Given the description of an element on the screen output the (x, y) to click on. 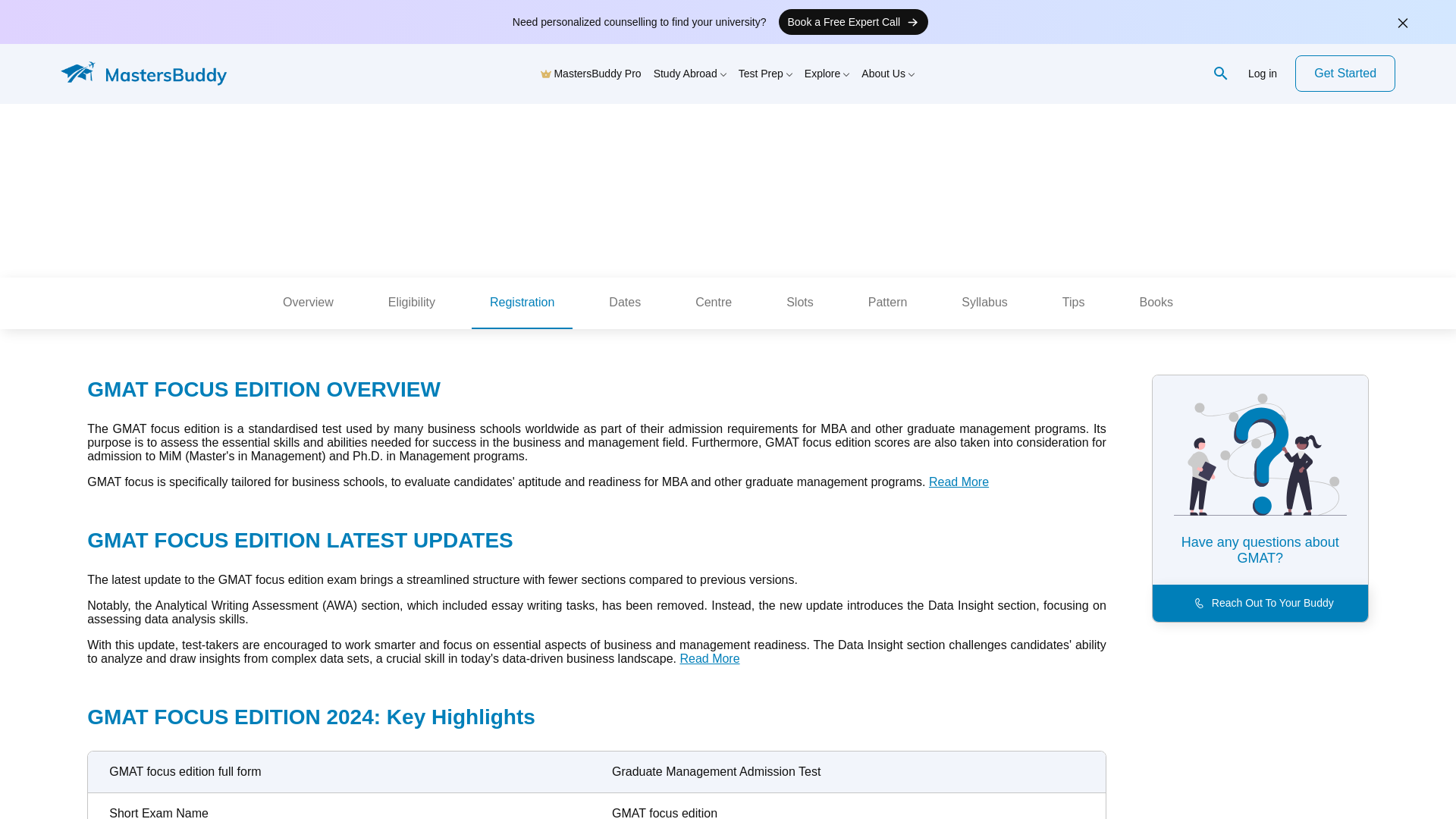
Mastersbuddy (152, 73)
MastersBuddy Pro (591, 73)
Book a Free Expert Call (852, 22)
Test Prep (765, 73)
Study Abroad (689, 73)
